Given the description of an element on the screen output the (x, y) to click on. 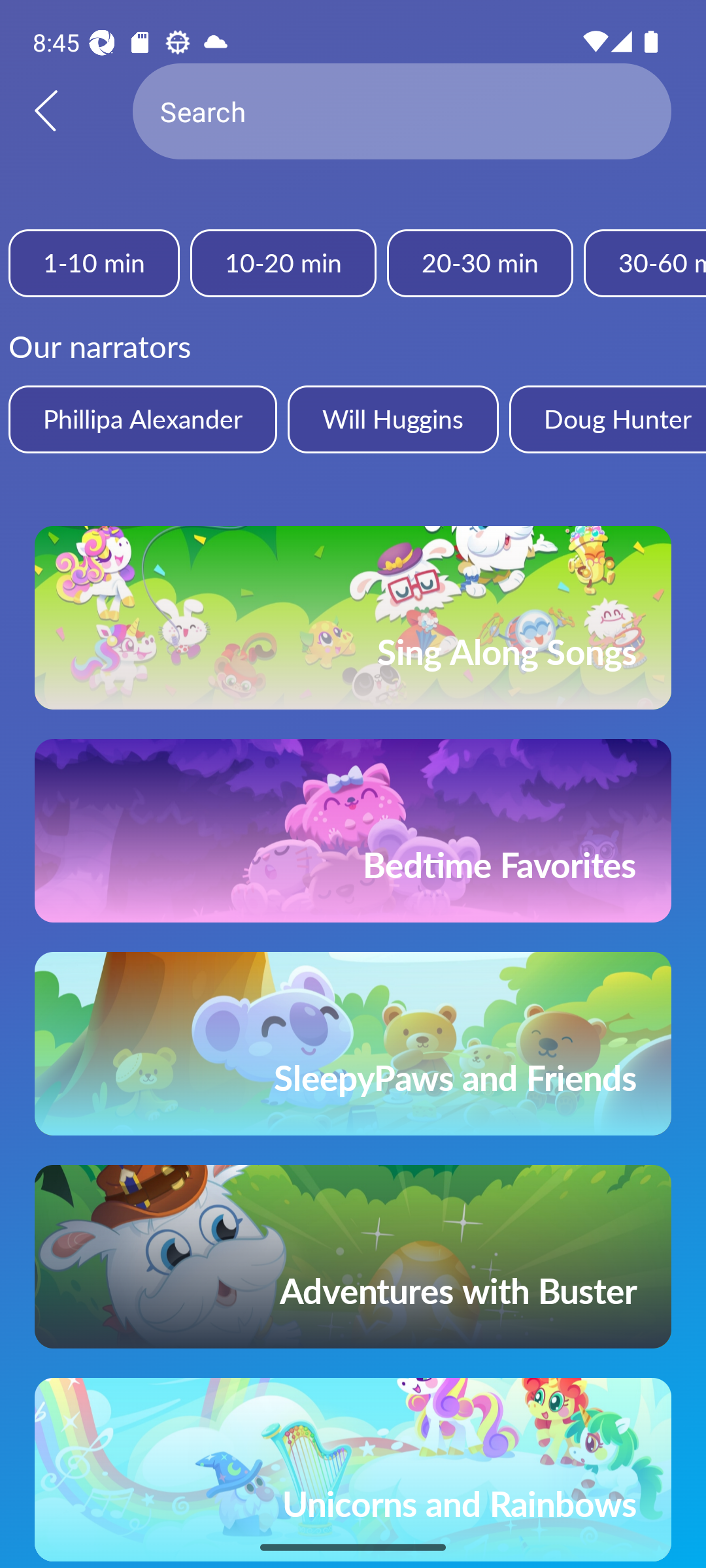
Search (401, 110)
1-10 min (94, 262)
10-20 min (282, 262)
20-30 min (479, 262)
30-60 min (644, 262)
Phillipa Alexander (142, 419)
Will Huggins (392, 419)
Doug Hunter (607, 419)
Sing Along Songs (352, 616)
Bedtime Favorites (352, 829)
SleepyPaws and Friends (352, 1043)
Adventures with Buster (352, 1256)
Unicorns and Rainbows (352, 1469)
